Given the description of an element on the screen output the (x, y) to click on. 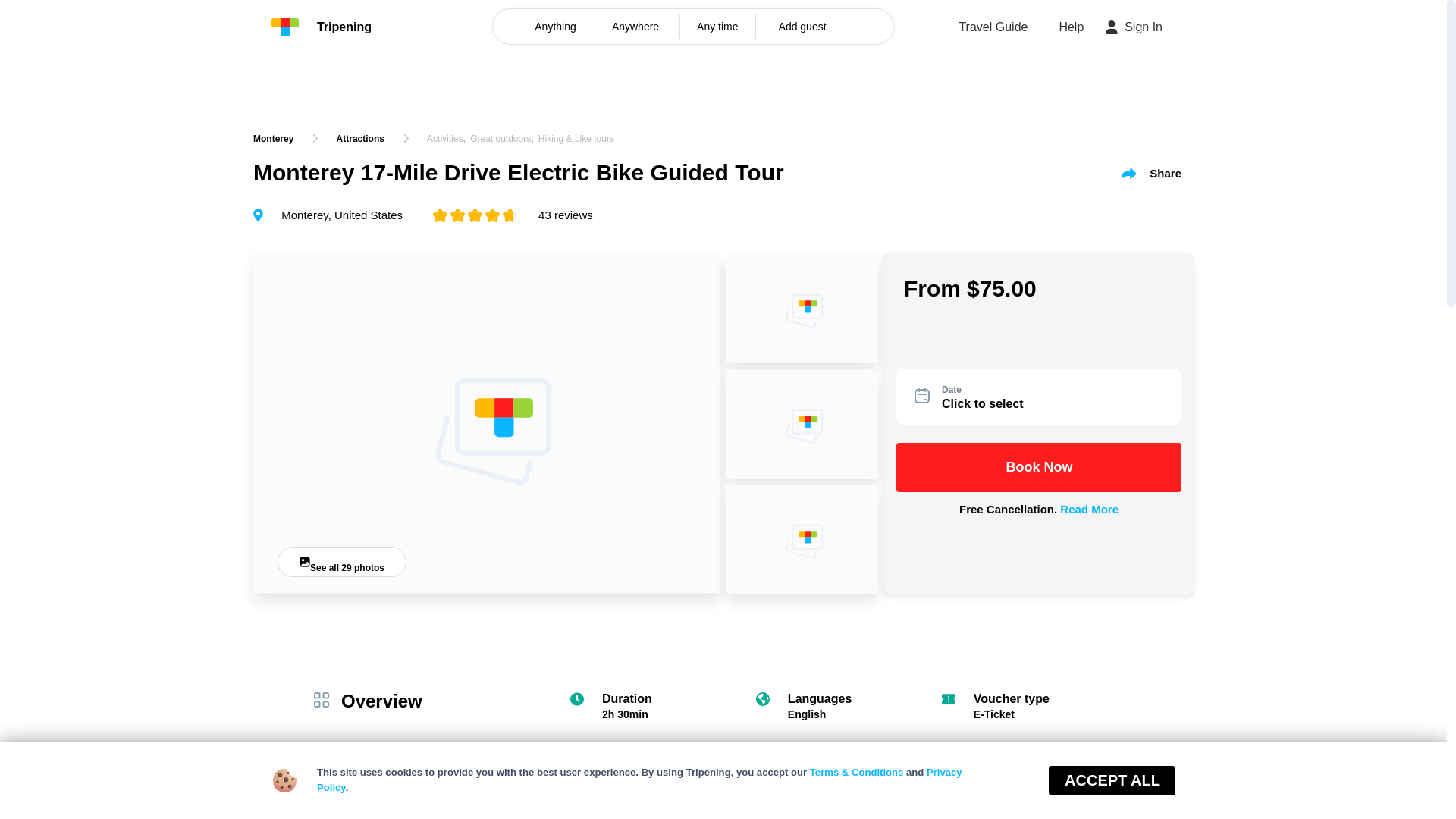
BOOK NOW (1354, 781)
Share (1151, 172)
Privacy Policy (639, 779)
Book Now (1112, 781)
Attractions (360, 138)
Monterey (273, 138)
Travel Guide (992, 26)
Activities (444, 138)
Sign In (1134, 26)
Book Now (1038, 467)
